Given the description of an element on the screen output the (x, y) to click on. 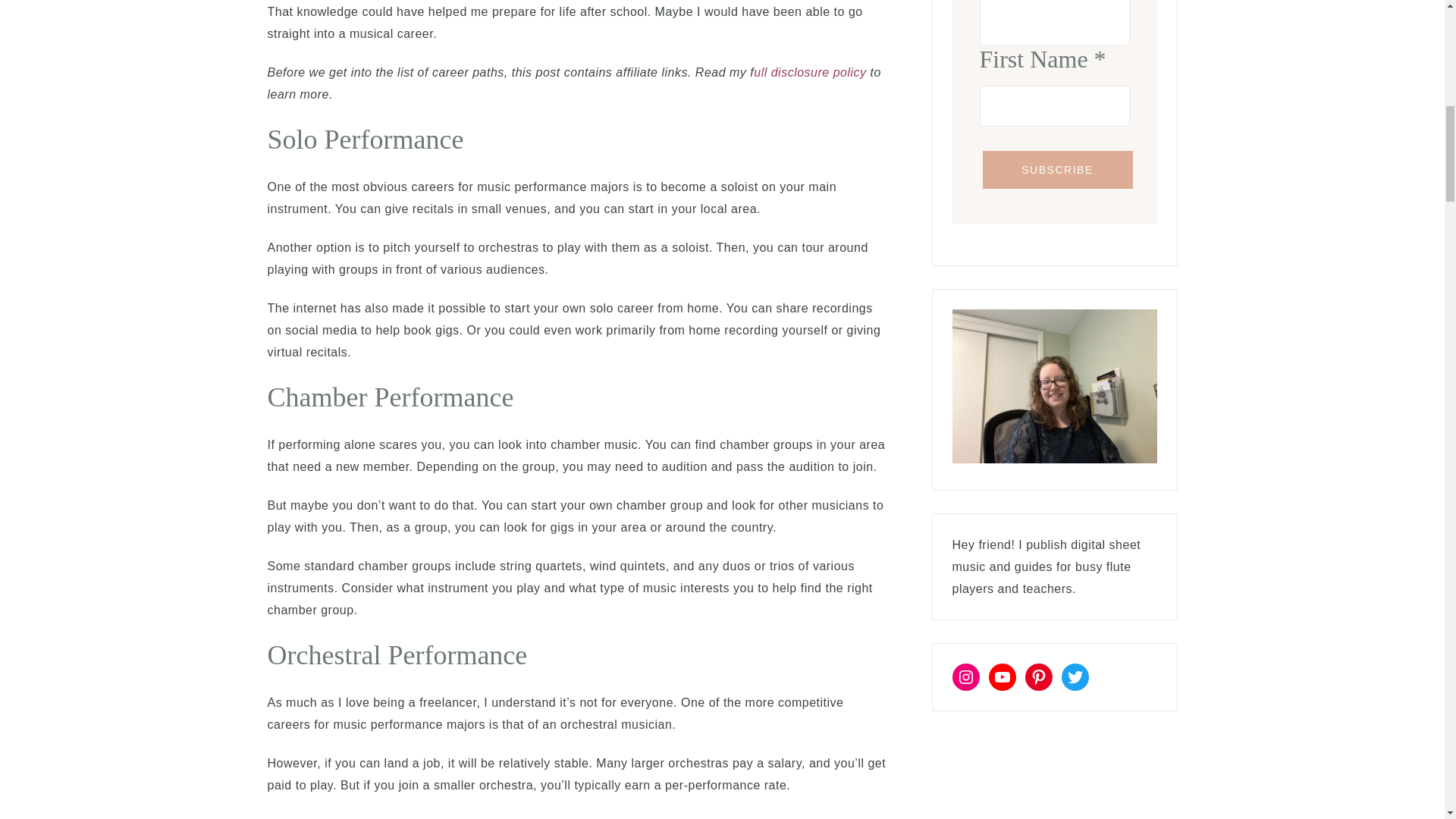
ull disclosure policy (810, 72)
Subscribe (1057, 169)
